Given the description of an element on the screen output the (x, y) to click on. 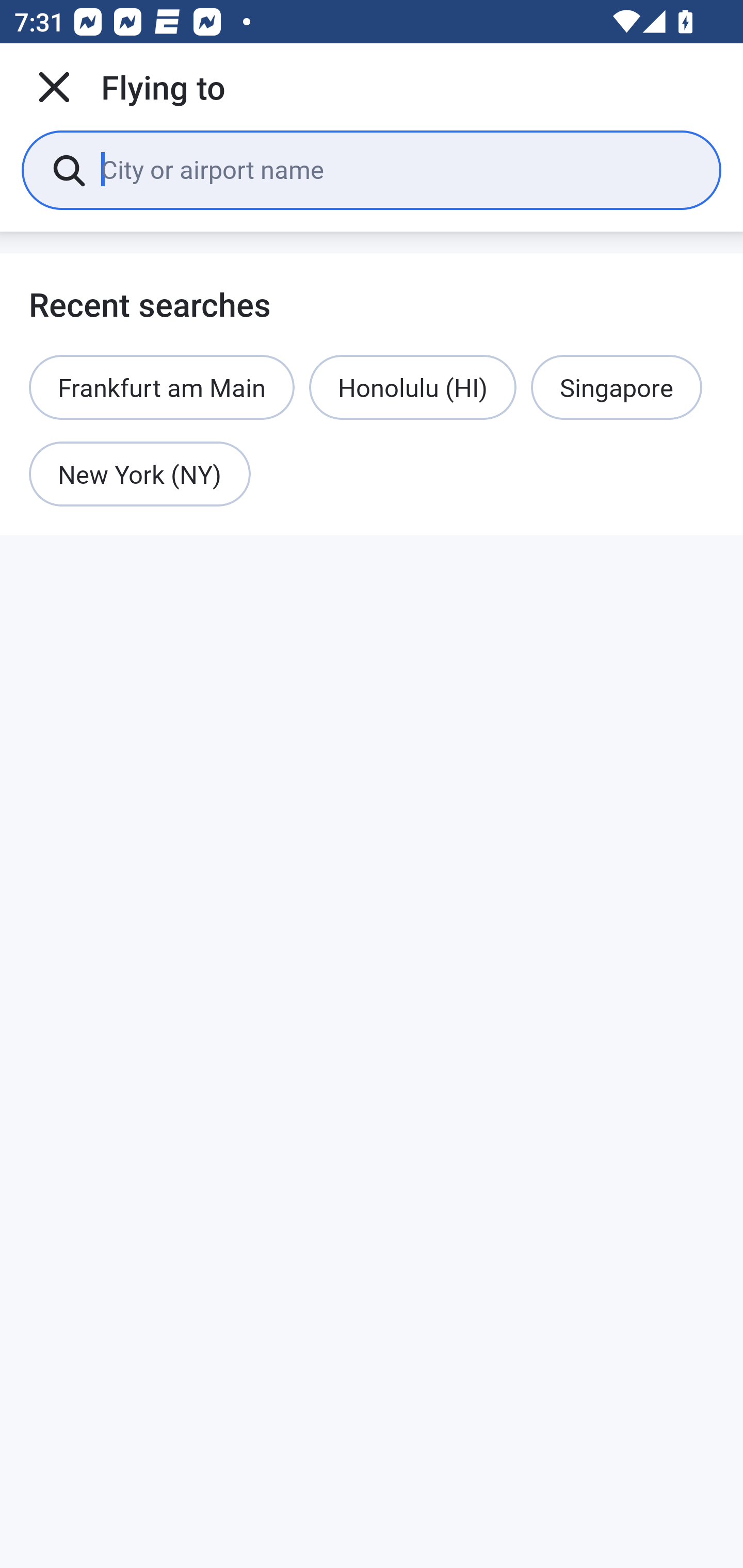
City or airport name (396, 169)
Frankfurt am Main (161, 387)
Honolulu (HI) (412, 387)
Singapore (616, 387)
New York (NY) (139, 474)
